Given the description of an element on the screen output the (x, y) to click on. 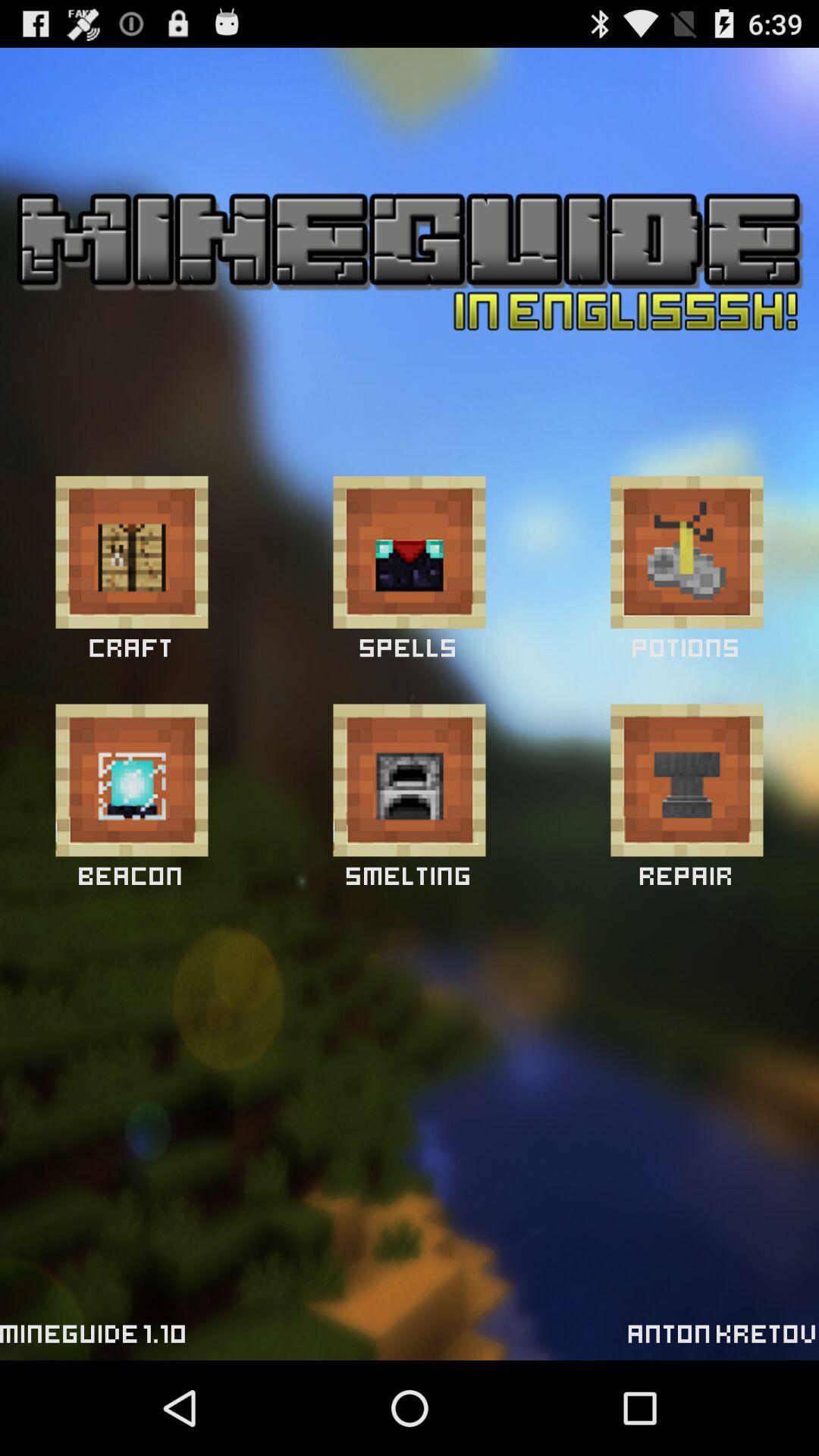
select beacon (131, 780)
